Given the description of an element on the screen output the (x, y) to click on. 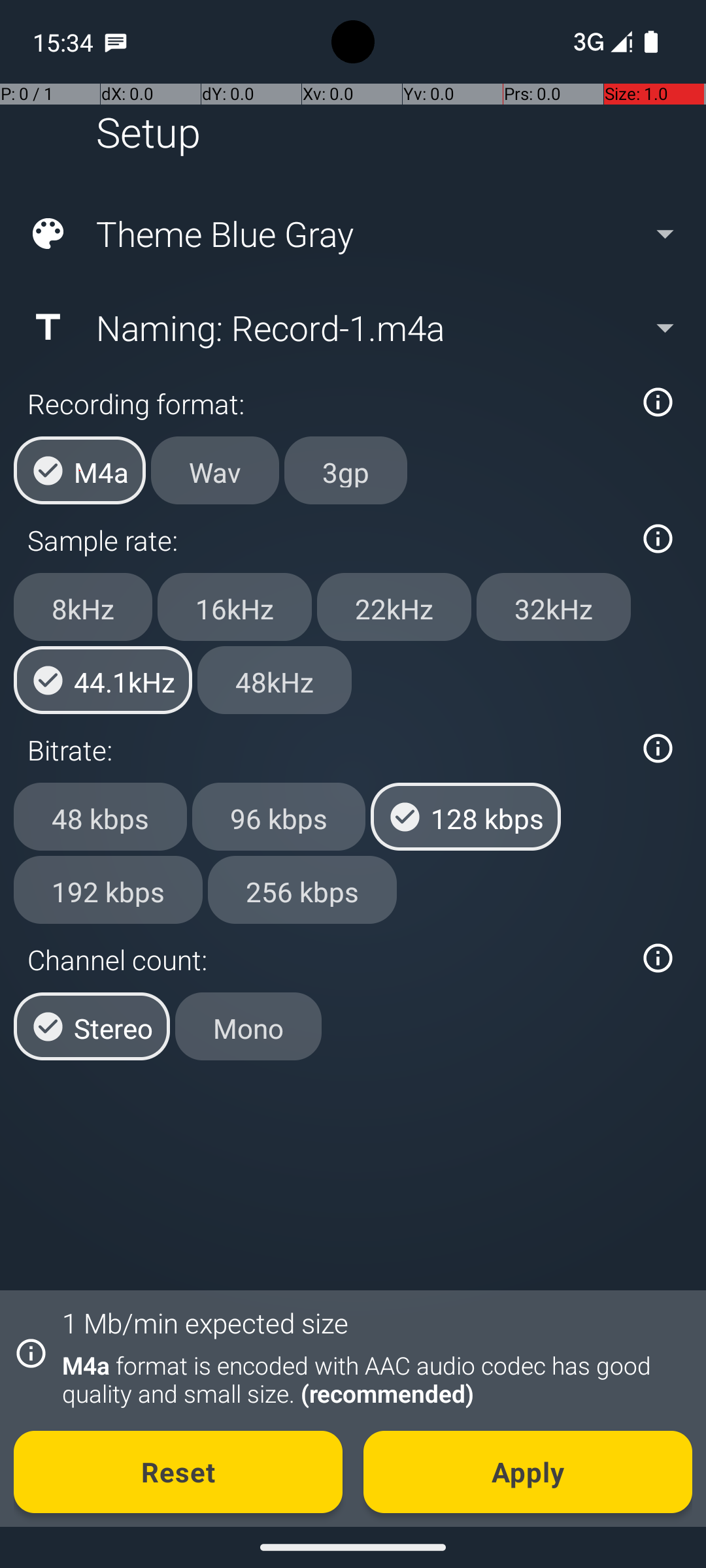
1 Mb/min expected size Element type: android.widget.TextView (205, 1322)
M4a format is encoded with AAC audio codec has good quality and small size. (recommended) Element type: android.widget.TextView (370, 1378)
Apply Element type: android.widget.Button (527, 1471)
Setup Element type: android.widget.TextView (148, 131)
Theme Blue Gray Element type: android.widget.TextView (352, 233)
Naming: Record-1.m4a Element type: android.widget.TextView (352, 327)
SMS Messenger notification:  Element type: android.widget.ImageView (115, 41)
Phone signal full. Element type: android.widget.FrameLayout (600, 41)
